Given the description of an element on the screen output the (x, y) to click on. 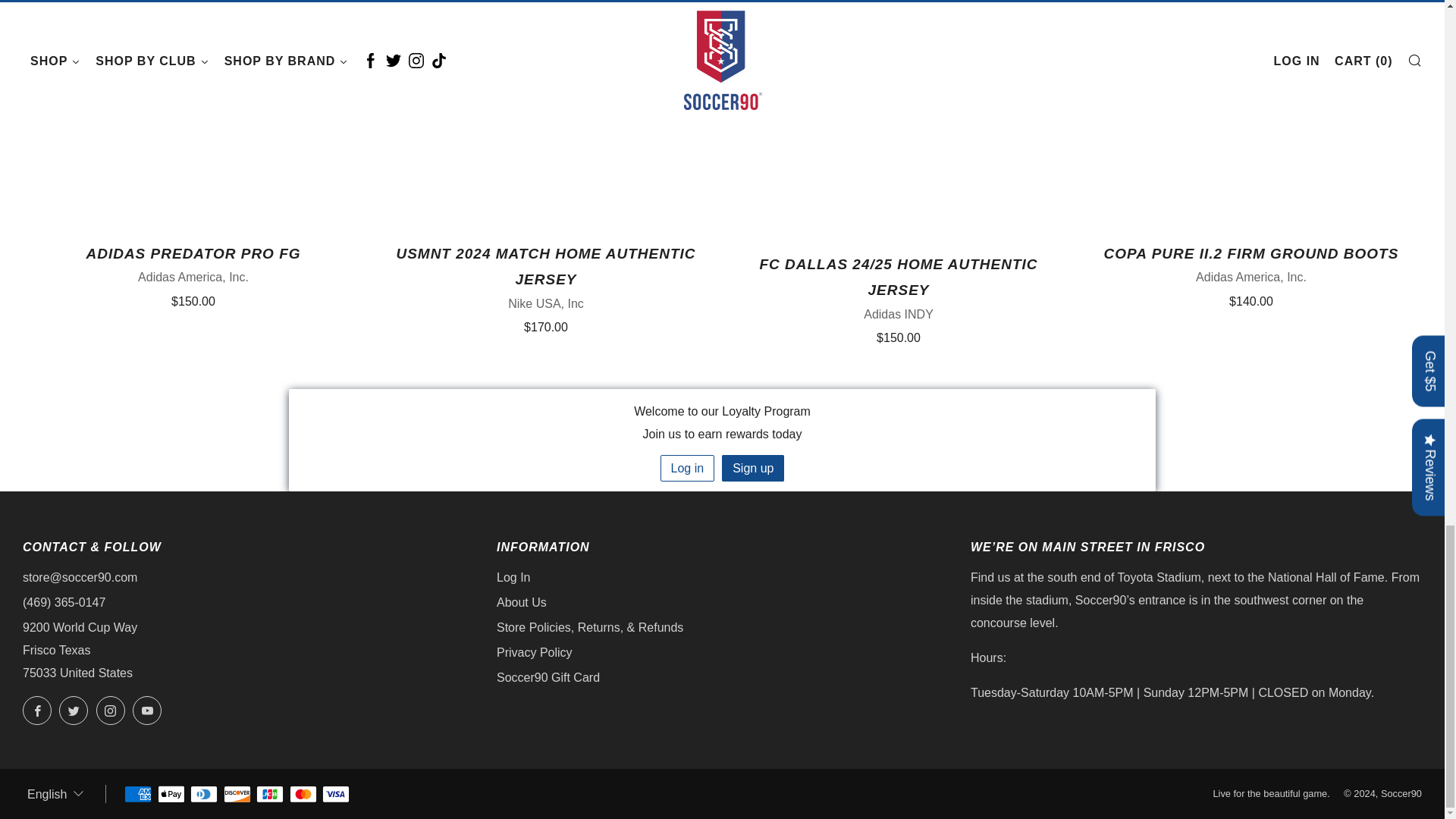
USMNT 2024 Match Home Authentic Jersey (545, 286)
adidas Predator Pro FG (193, 273)
Copa Pure II.2 Firm Ground Boots (1251, 273)
